Given the description of an element on the screen output the (x, y) to click on. 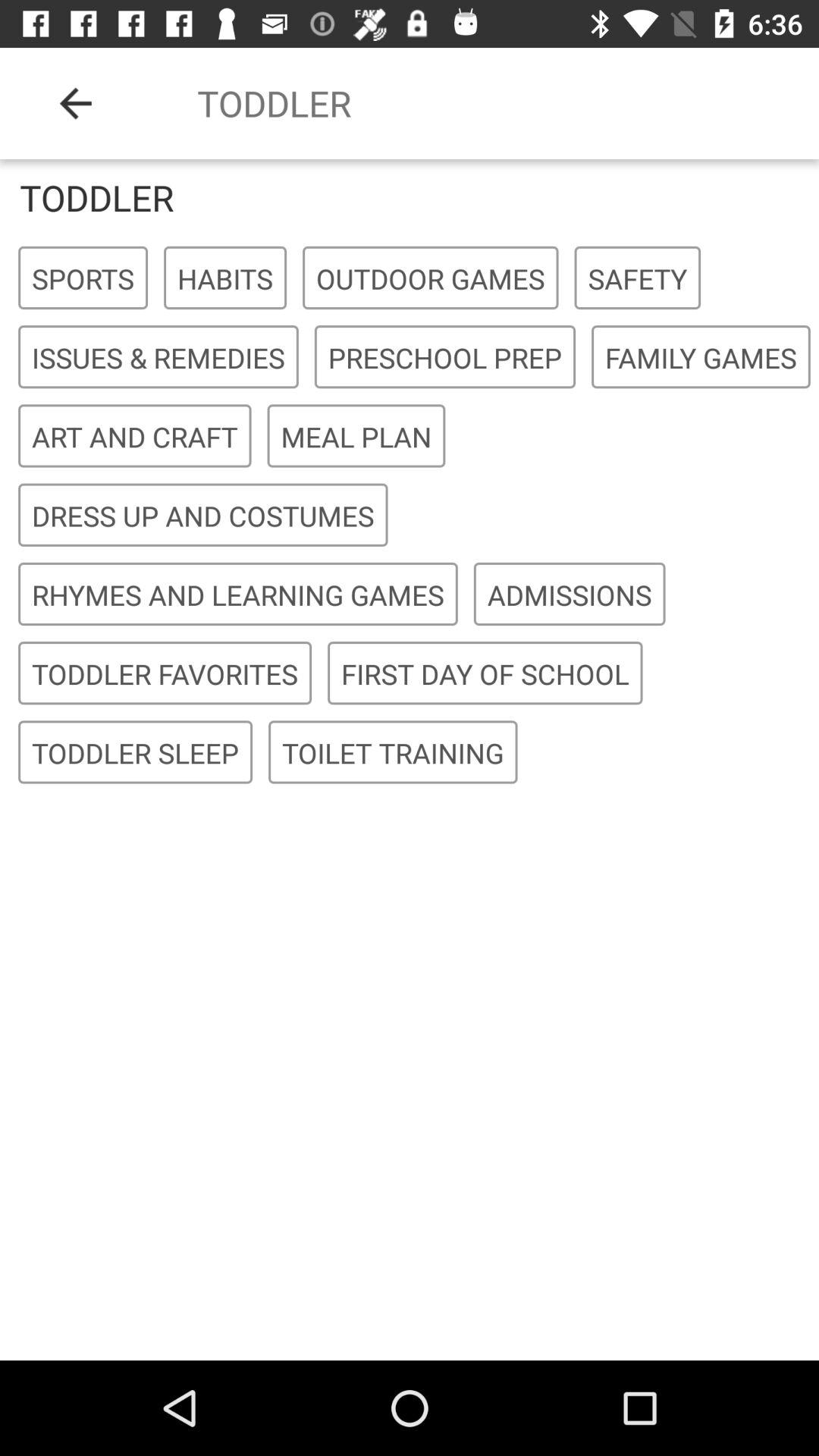
turn on the item to the right of habits (430, 278)
